Given the description of an element on the screen output the (x, y) to click on. 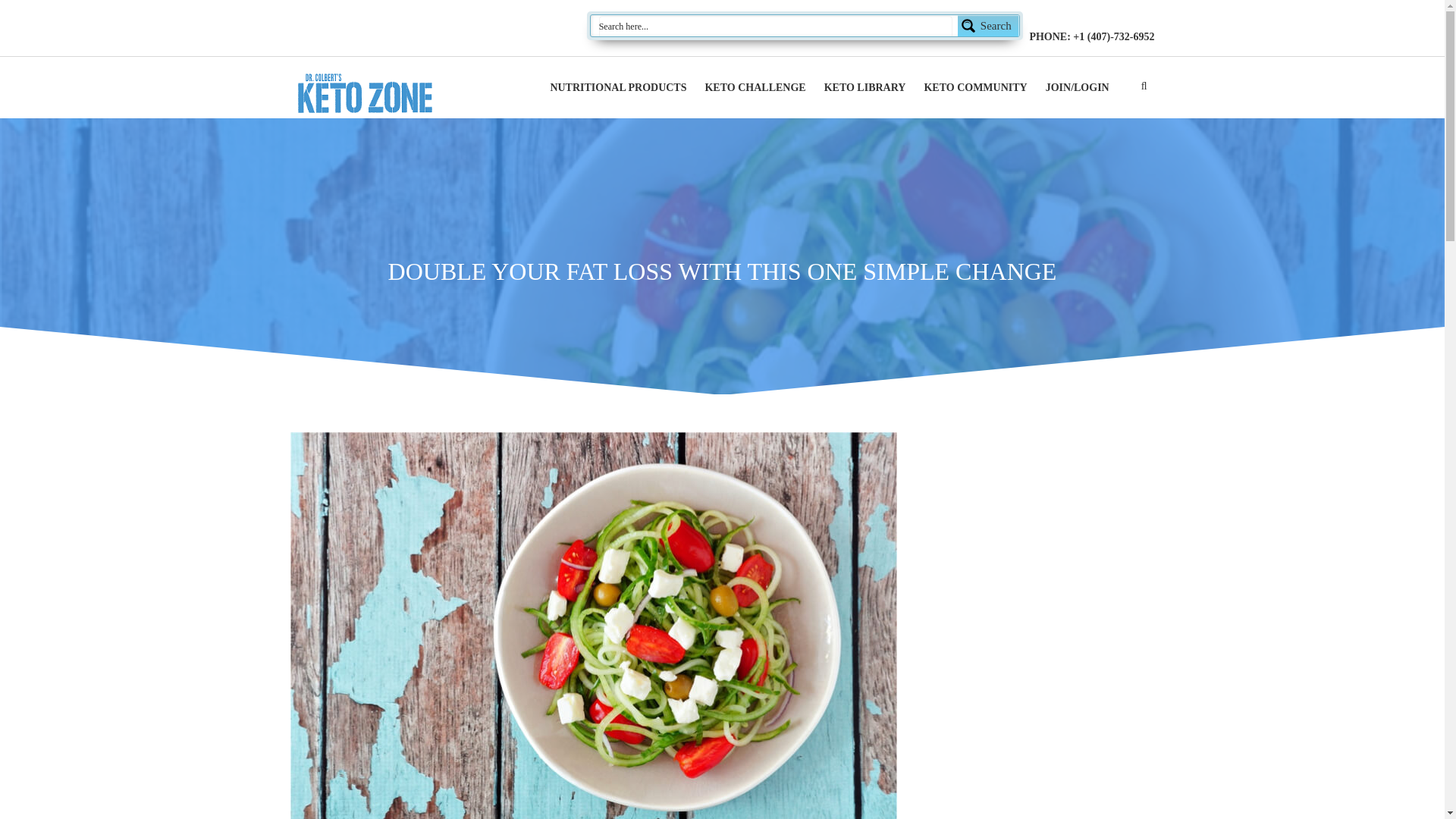
KETO LIBRARY (864, 87)
Search (804, 25)
KETO CHALLENGE (754, 87)
KETO COMMUNITY (974, 87)
NUTRITIONAL PRODUCTS (617, 87)
